Given the description of an element on the screen output the (x, y) to click on. 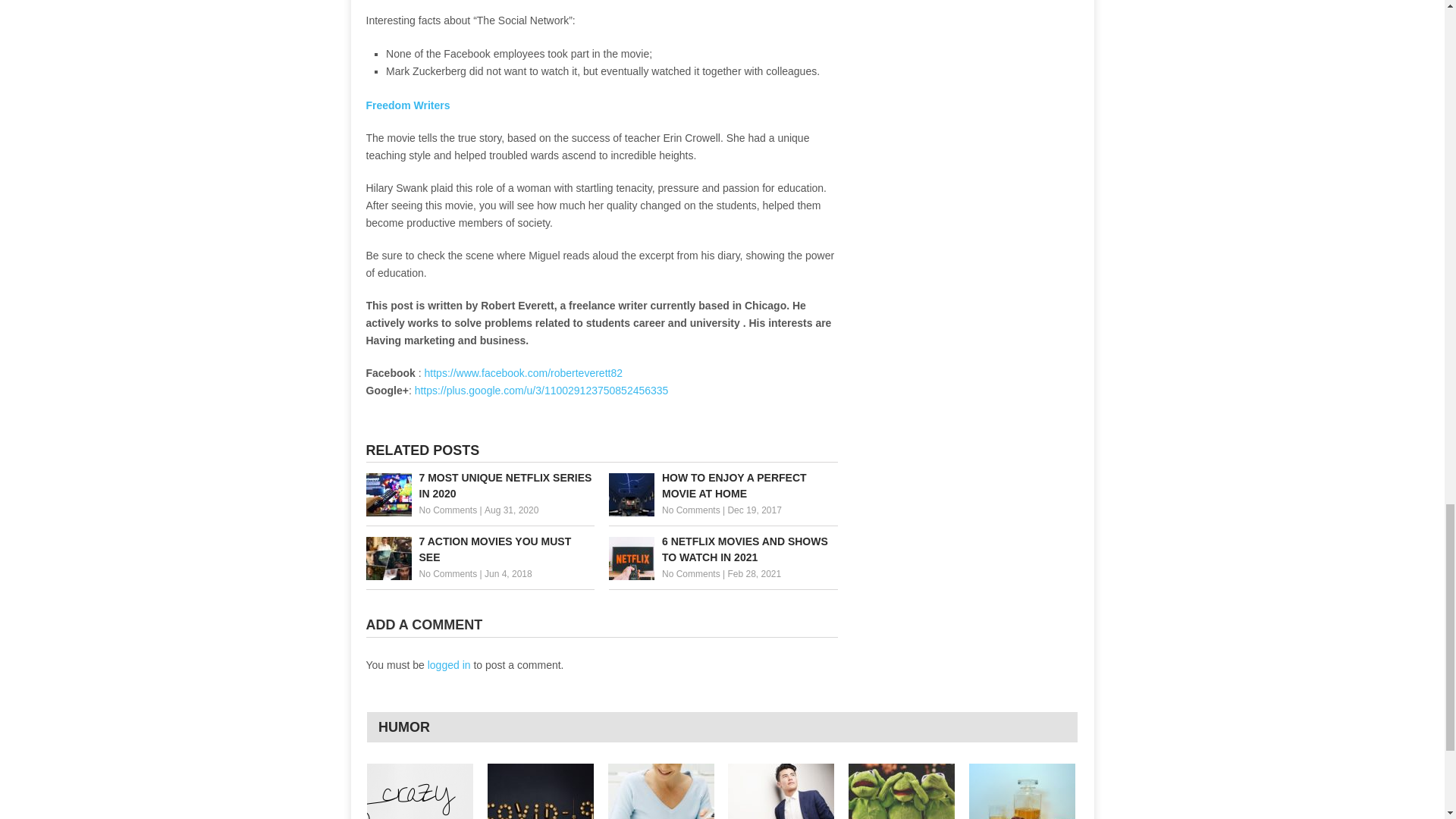
THE WEIRDEST GUINNESS BOOK RECORDS OF THE WORLD (419, 791)
6 NETFLIX MOVIES AND SHOWS TO WATCH IN 2021 (723, 549)
7 MOST UNIQUE NETFLIX SERIES IN 2020 (479, 486)
7 Most Unique Netflix Series in 2020 (479, 486)
How to Enjoy a Perfect Movie at Home (723, 486)
No Comments (448, 510)
7 Action Movies you must See (479, 549)
No Comments (691, 510)
HOW TO ENJOY A PERFECT MOVIE AT HOME (723, 486)
logged in (449, 664)
